Given the description of an element on the screen output the (x, y) to click on. 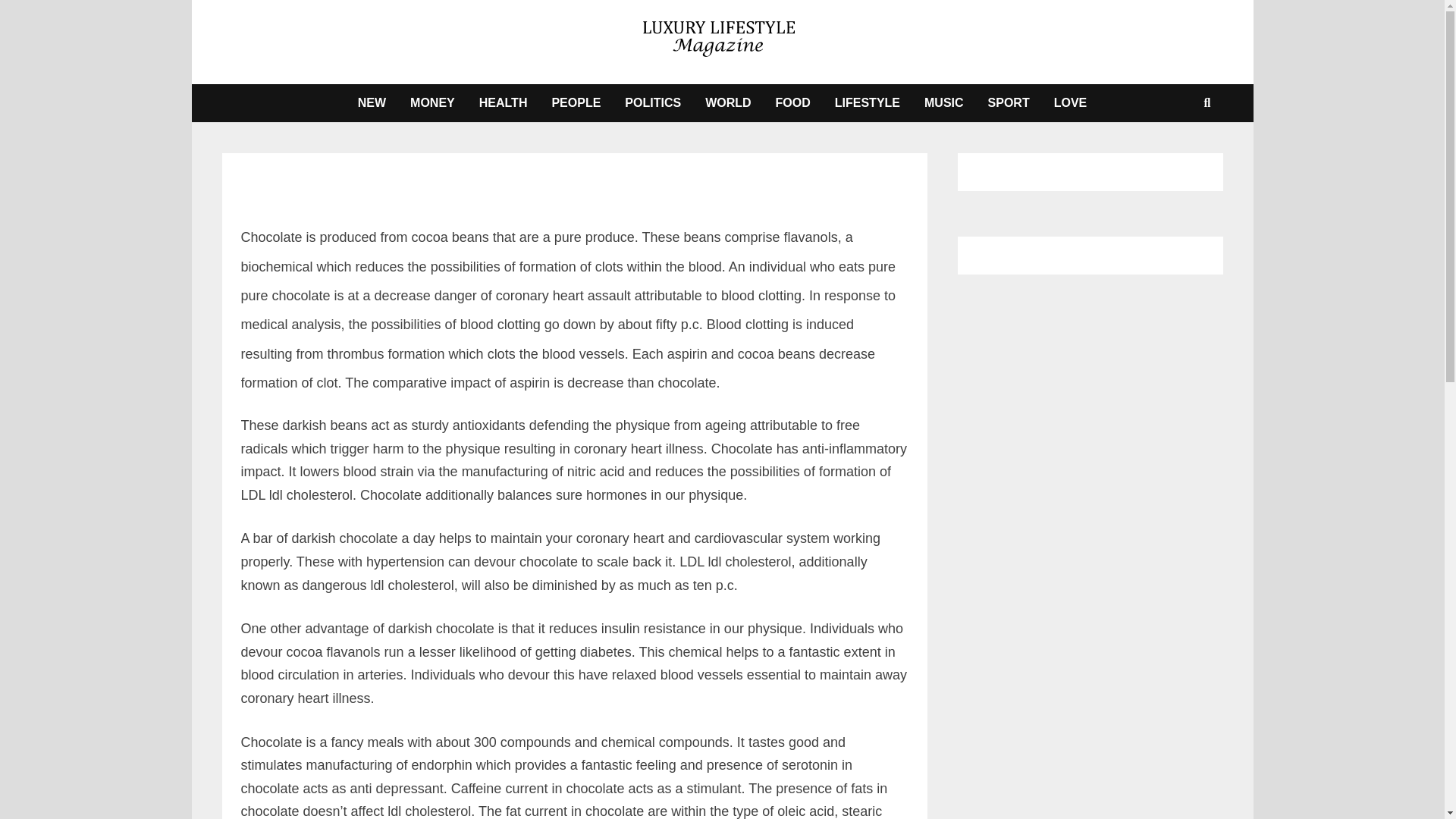
MUSIC (943, 103)
LOVE (1070, 103)
PEOPLE (575, 103)
SPORT (1008, 103)
FOOD (792, 103)
POLITICS (652, 103)
LIFESTYLE (867, 103)
MONEY (432, 103)
WORLD (727, 103)
NEW (371, 103)
